Given the description of an element on the screen output the (x, y) to click on. 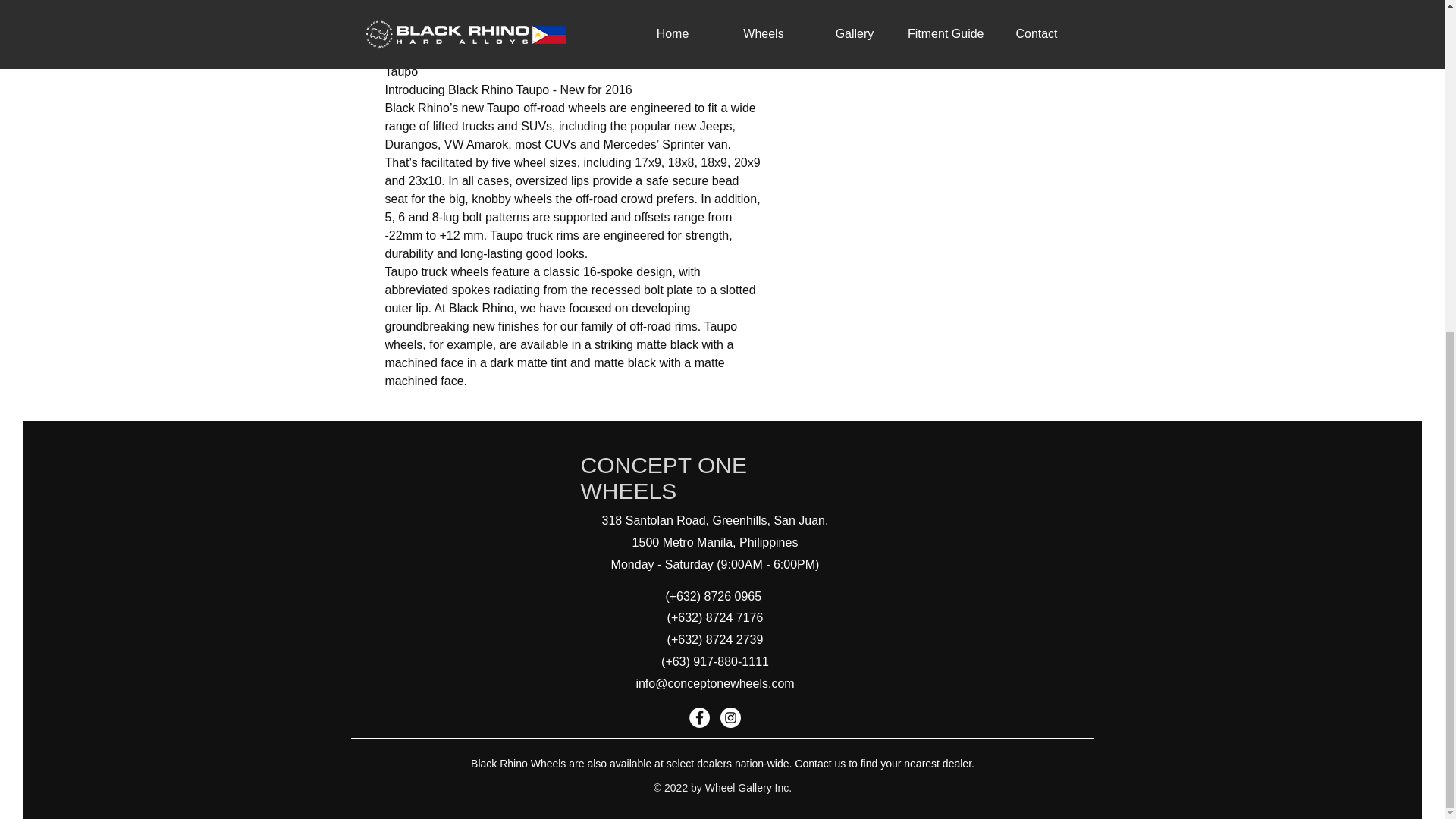
Contact Us to Purchase (928, 51)
